Given the description of an element on the screen output the (x, y) to click on. 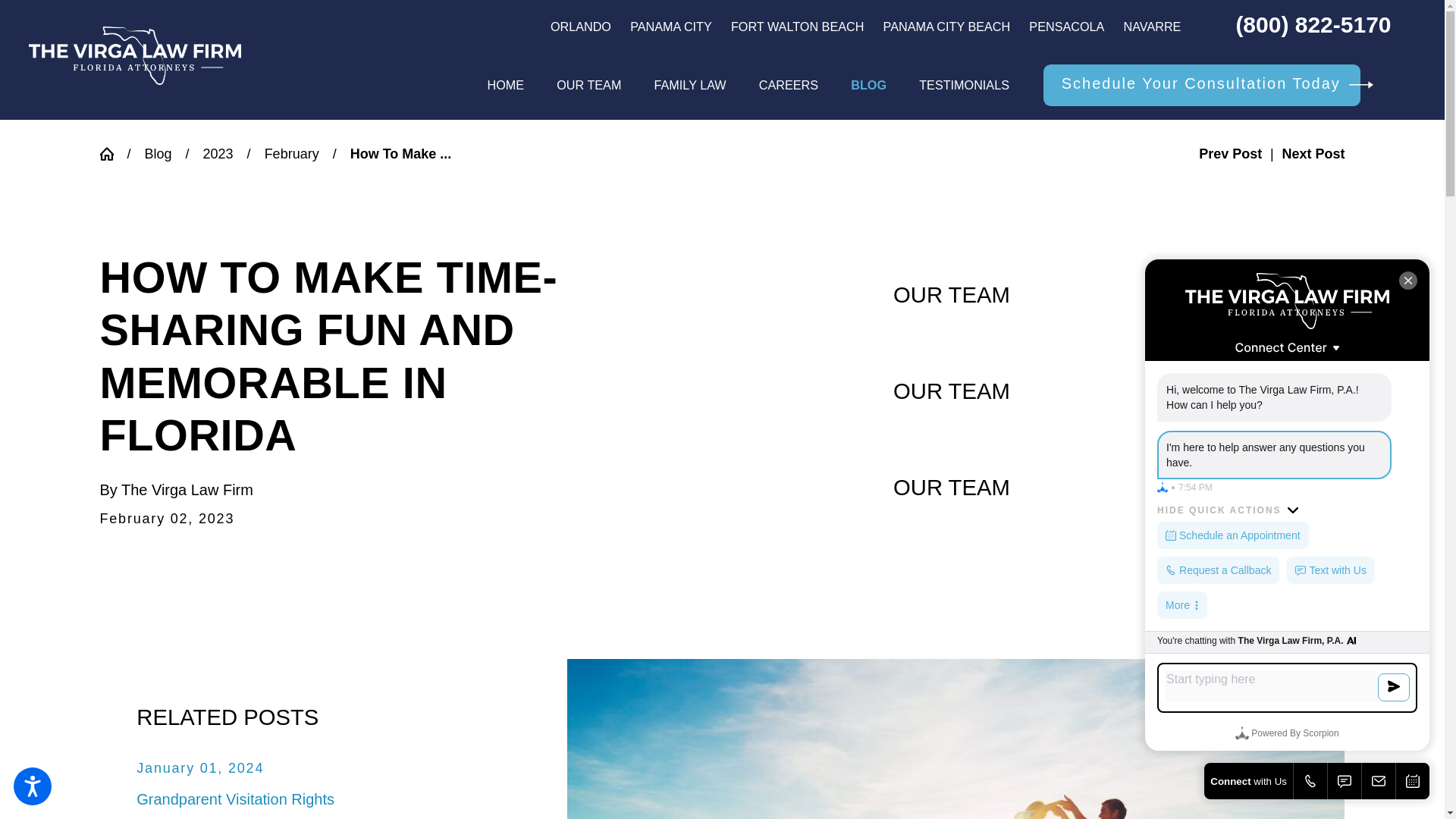
PENSACOLA (1066, 26)
The Virga Law Firm, P.A. (135, 55)
FORT WALTON BEACH (796, 26)
PANAMA CITY (670, 26)
Go Home (114, 153)
ORLANDO (580, 26)
Open the accessibility options menu (31, 786)
FAMILY LAW (689, 84)
PANAMA CITY BEACH (946, 26)
NAVARRE (1152, 26)
HOME (505, 84)
OUR TEAM (588, 84)
